Given the description of an element on the screen output the (x, y) to click on. 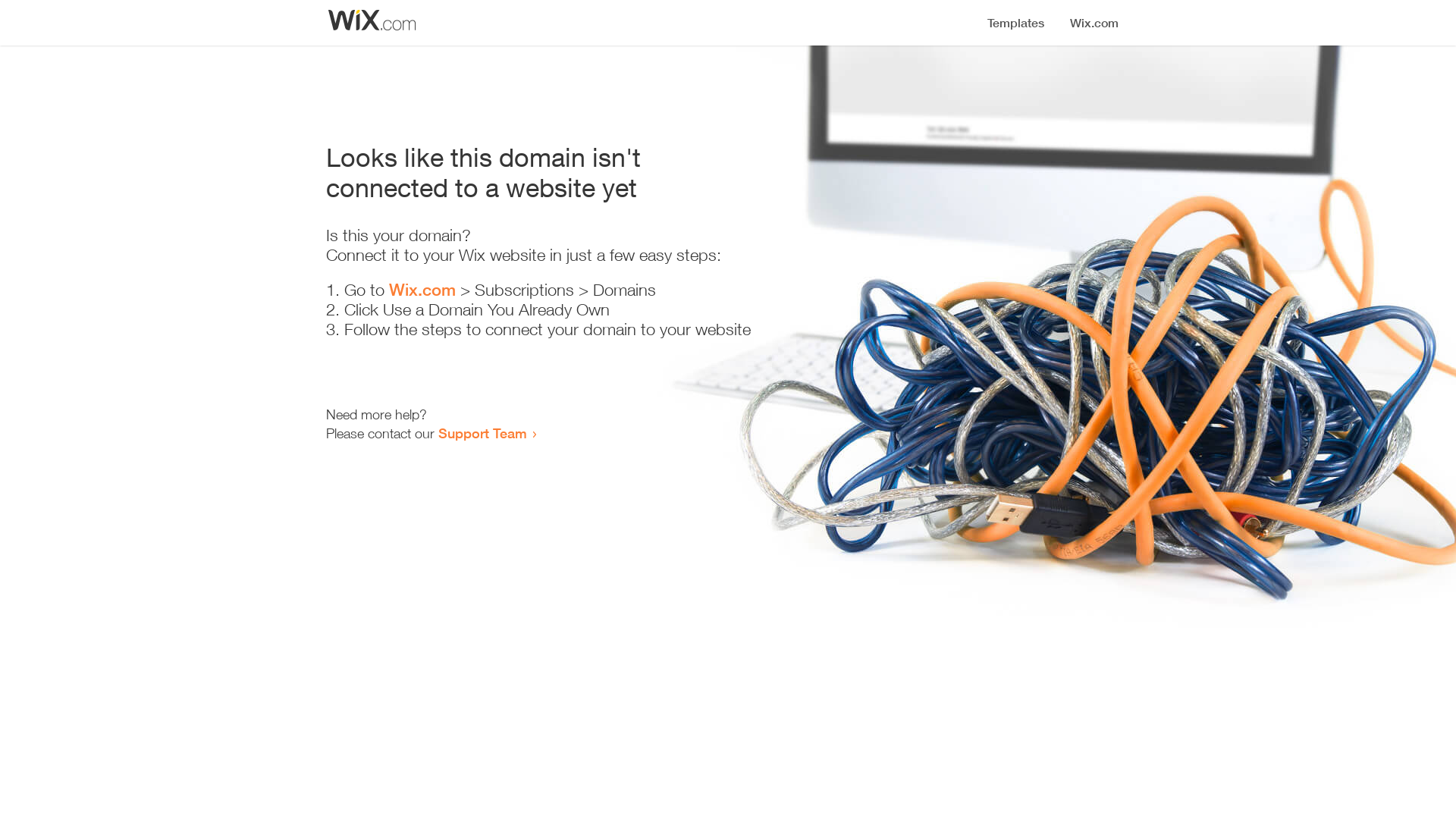
Support Team Element type: text (482, 432)
Wix.com Element type: text (422, 289)
